Given the description of an element on the screen output the (x, y) to click on. 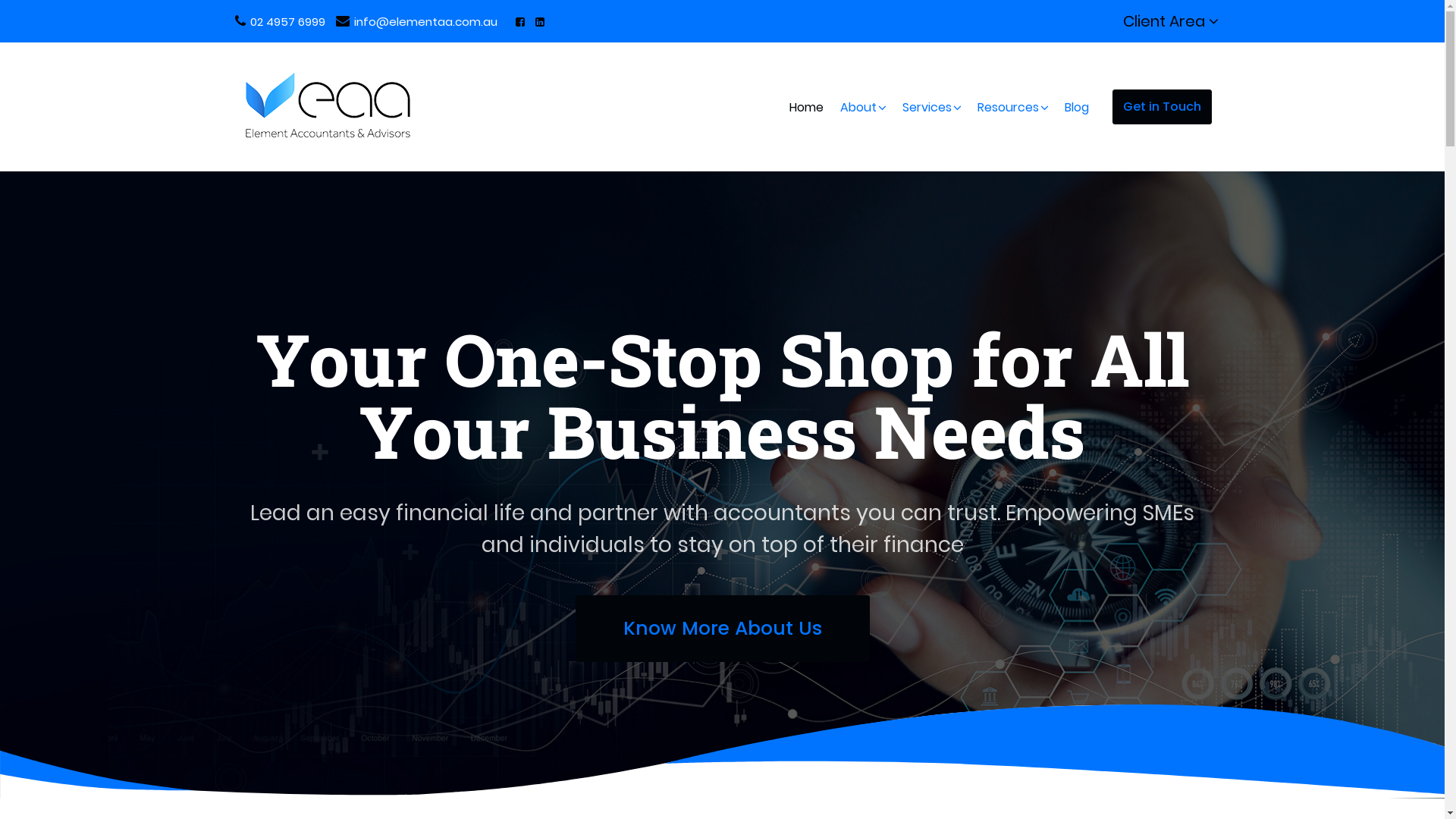
Resources Element type: text (1007, 106)
Know More About Us Element type: text (721, 628)
Get in Touch Element type: text (1161, 106)
Client Area Element type: text (1169, 20)
Services Element type: text (925, 106)
Home Element type: text (806, 106)
About Element type: text (857, 106)
info@elementaa.com.au Element type: text (416, 21)
Blog Element type: text (1076, 106)
02 4957 6999 Element type: text (279, 21)
